Given the description of an element on the screen output the (x, y) to click on. 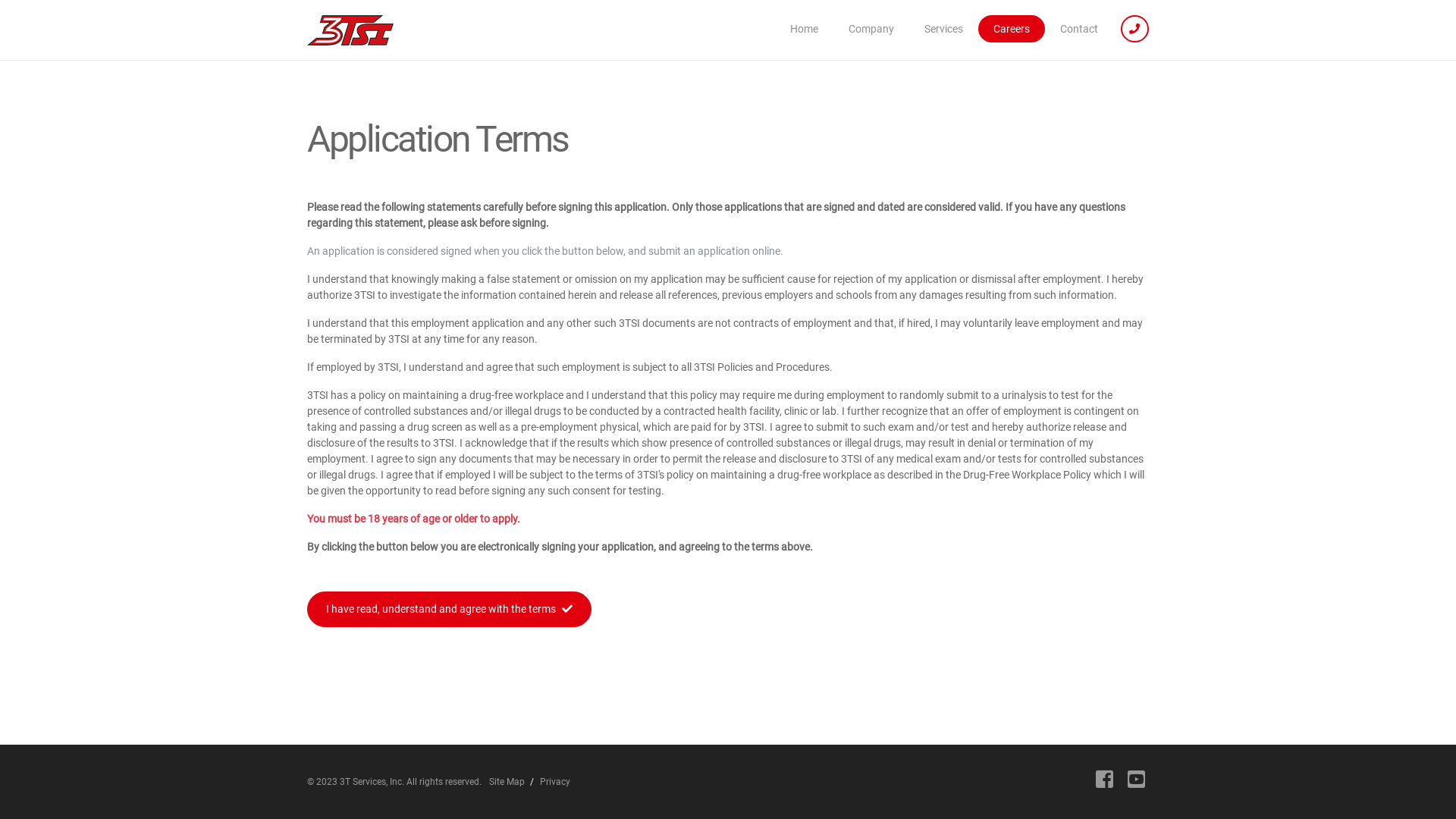
Services Element type: text (942, 28)
Privacy Element type: text (554, 781)
Contact Element type: text (1078, 28)
Site Map Element type: text (506, 781)
Company Element type: text (870, 28)
Careers Element type: text (1011, 28)
Home Element type: text (804, 28)
I have read, understand and agree with the terms Element type: text (449, 609)
